Given the description of an element on the screen output the (x, y) to click on. 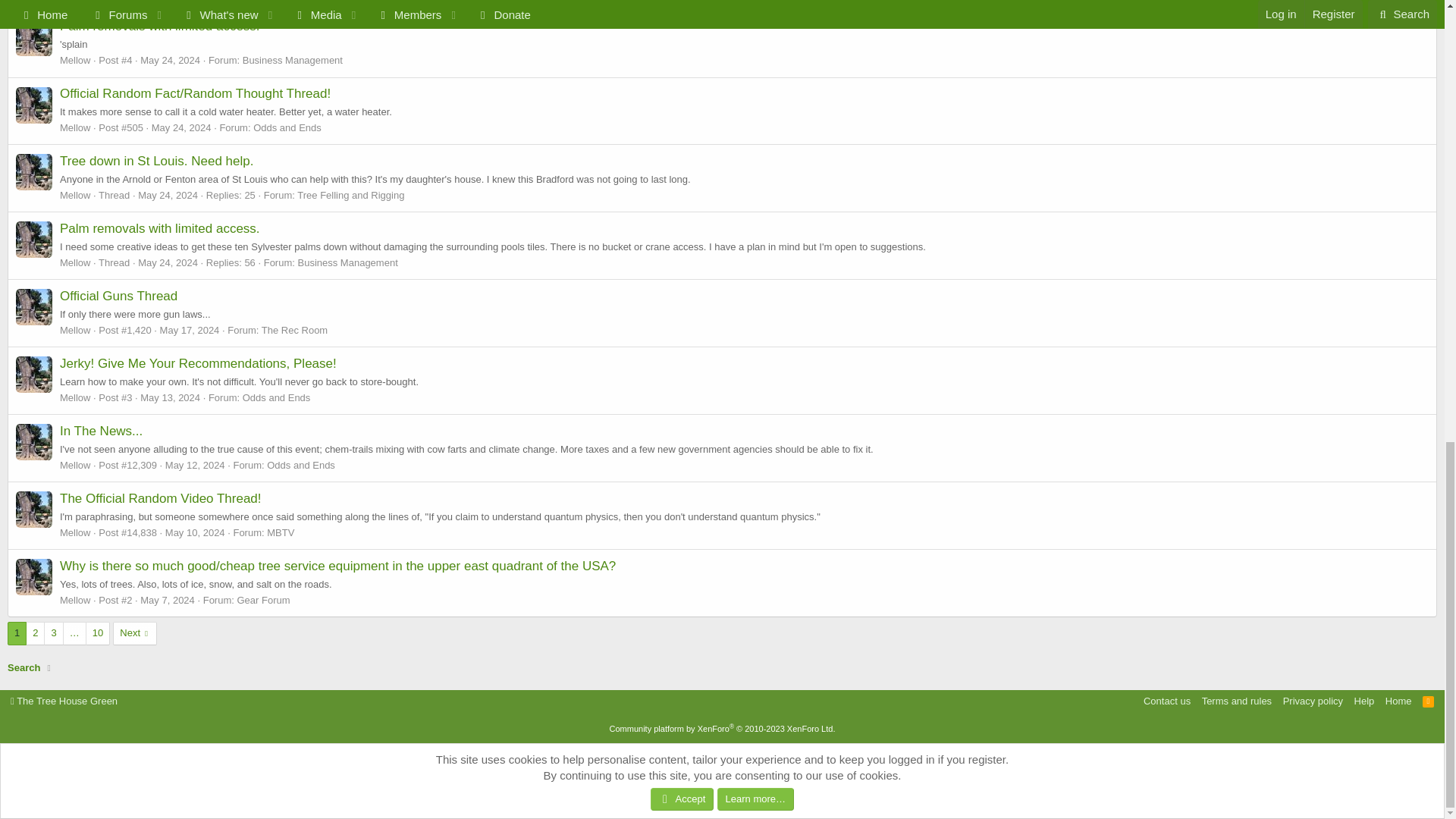
May 12, 2024 at 11:58 AM (195, 464)
May 24, 2024 at 3:45 PM (168, 262)
May 17, 2024 at 1:20 PM (189, 329)
May 24, 2024 at 3:56 PM (181, 127)
May 24, 2024 at 4:15 PM (169, 60)
May 13, 2024 at 6:21 AM (169, 397)
May 24, 2024 at 3:51 PM (168, 194)
